Given the description of an element on the screen output the (x, y) to click on. 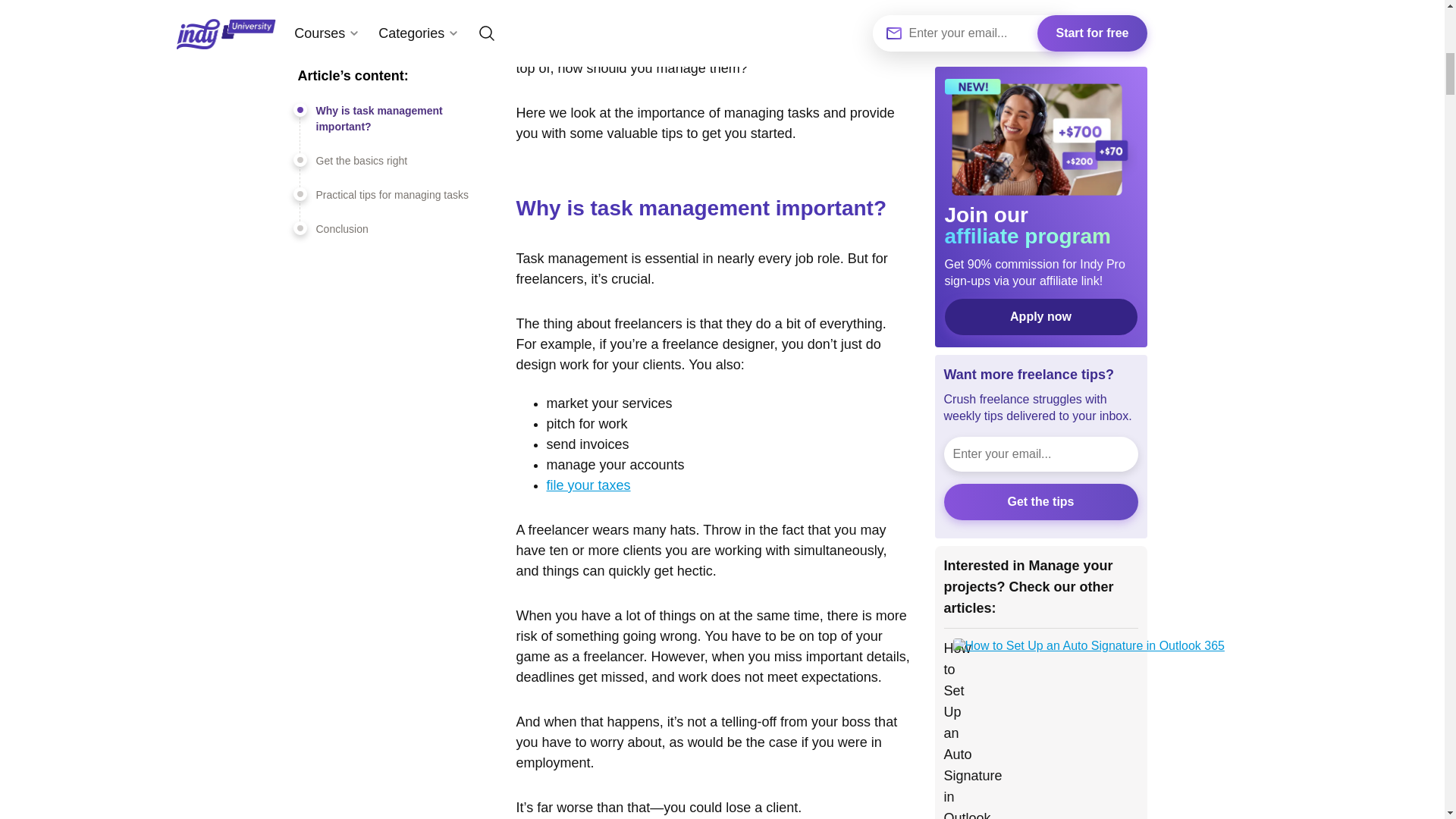
file your taxes (588, 485)
Get the tips (1040, 94)
